Given the description of an element on the screen output the (x, y) to click on. 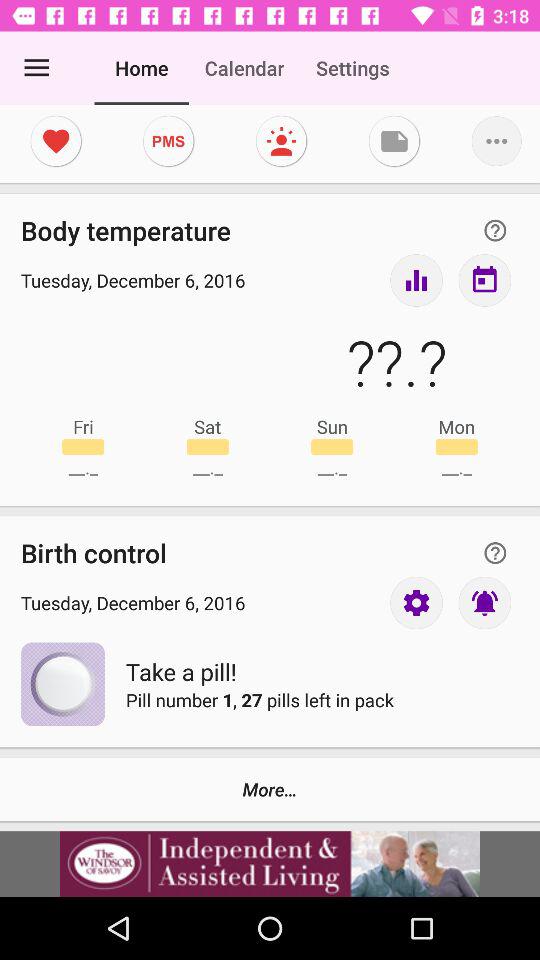
advertisement banner (270, 864)
